Given the description of an element on the screen output the (x, y) to click on. 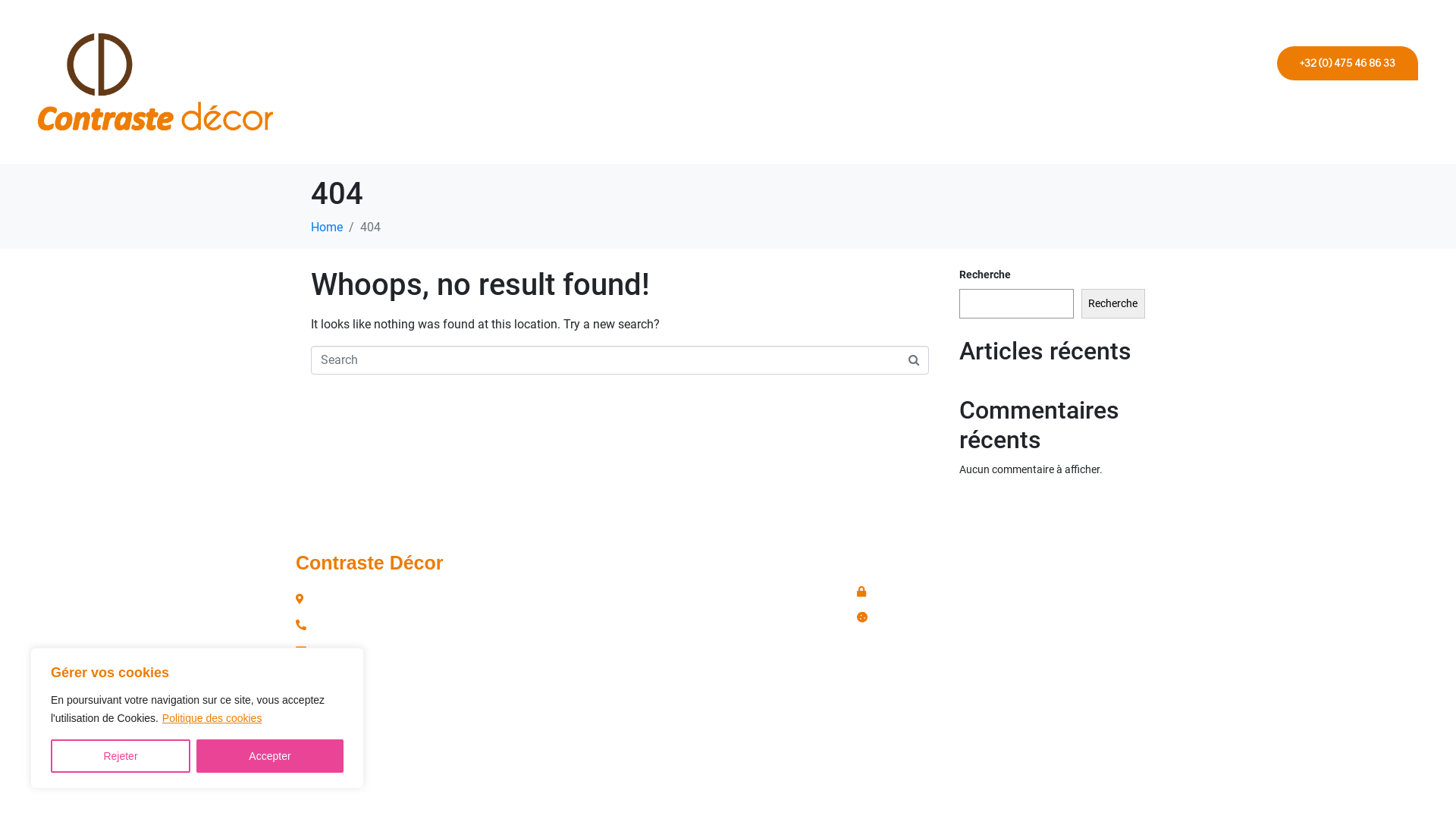
Placards sur mesure Element type: text (1293, 102)
+32 (0) 475 46 86 33 Element type: text (1347, 62)
Politique des cookies Element type: text (1007, 617)
Placards sur mesure Element type: text (766, 624)
Accepter Element type: text (269, 755)
info@contrastedecorsprl.be Element type: text (416, 650)
Rejeter Element type: text (120, 755)
Home Element type: text (326, 226)
Contact Element type: text (1396, 102)
Politique des cookies Element type: text (212, 717)
0475 / 46 86 33 Element type: text (416, 624)
Recherche Element type: text (1113, 303)
Accueil Element type: text (772, 102)
Contact Element type: text (766, 650)
